Given the description of an element on the screen output the (x, y) to click on. 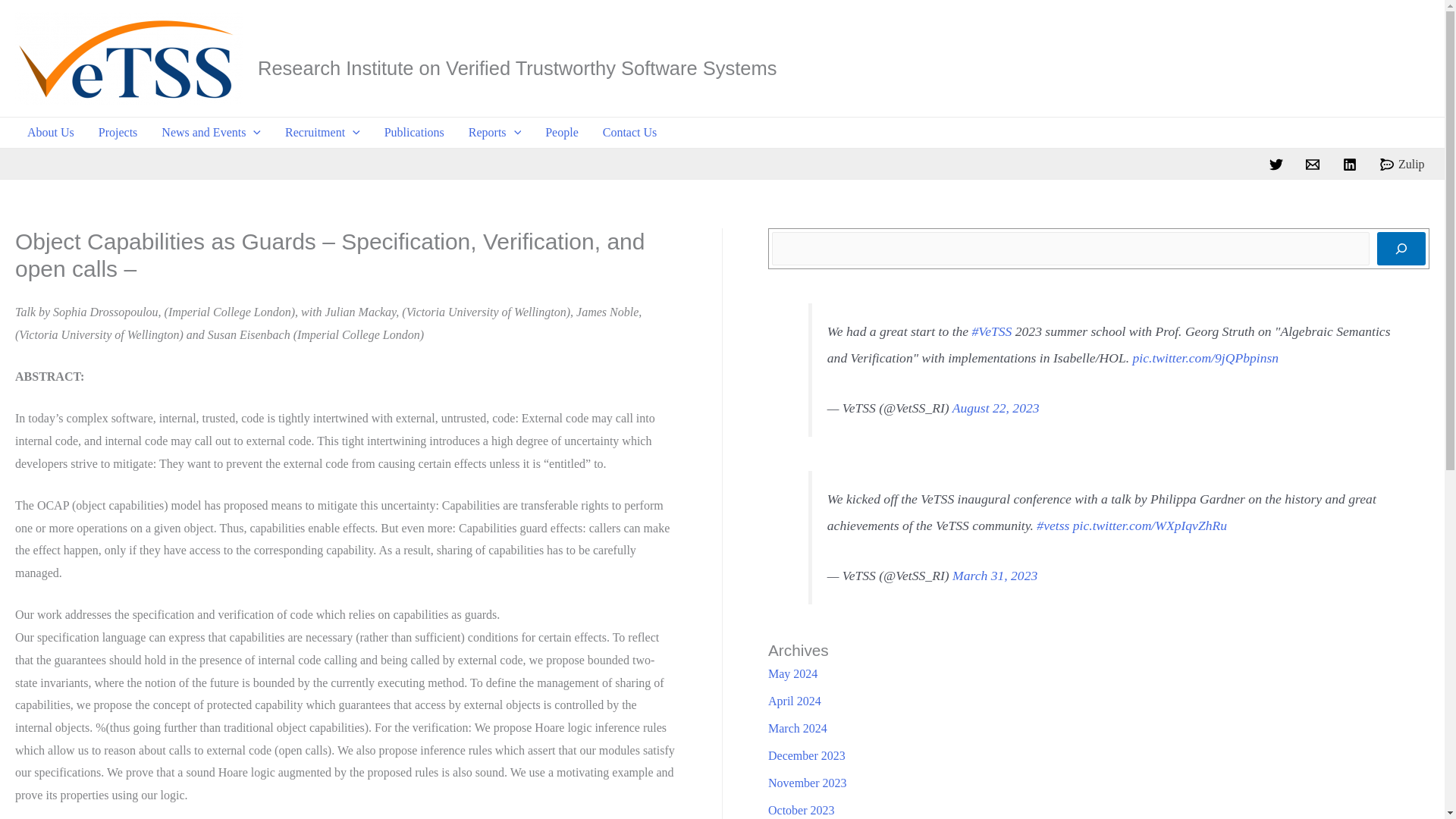
Projects (117, 132)
Contact Us (630, 132)
Zulip (1402, 164)
Recruitment (322, 132)
Publications (414, 132)
News and Events (211, 132)
Reports (494, 132)
People (561, 132)
About Us (49, 132)
